Given the description of an element on the screen output the (x, y) to click on. 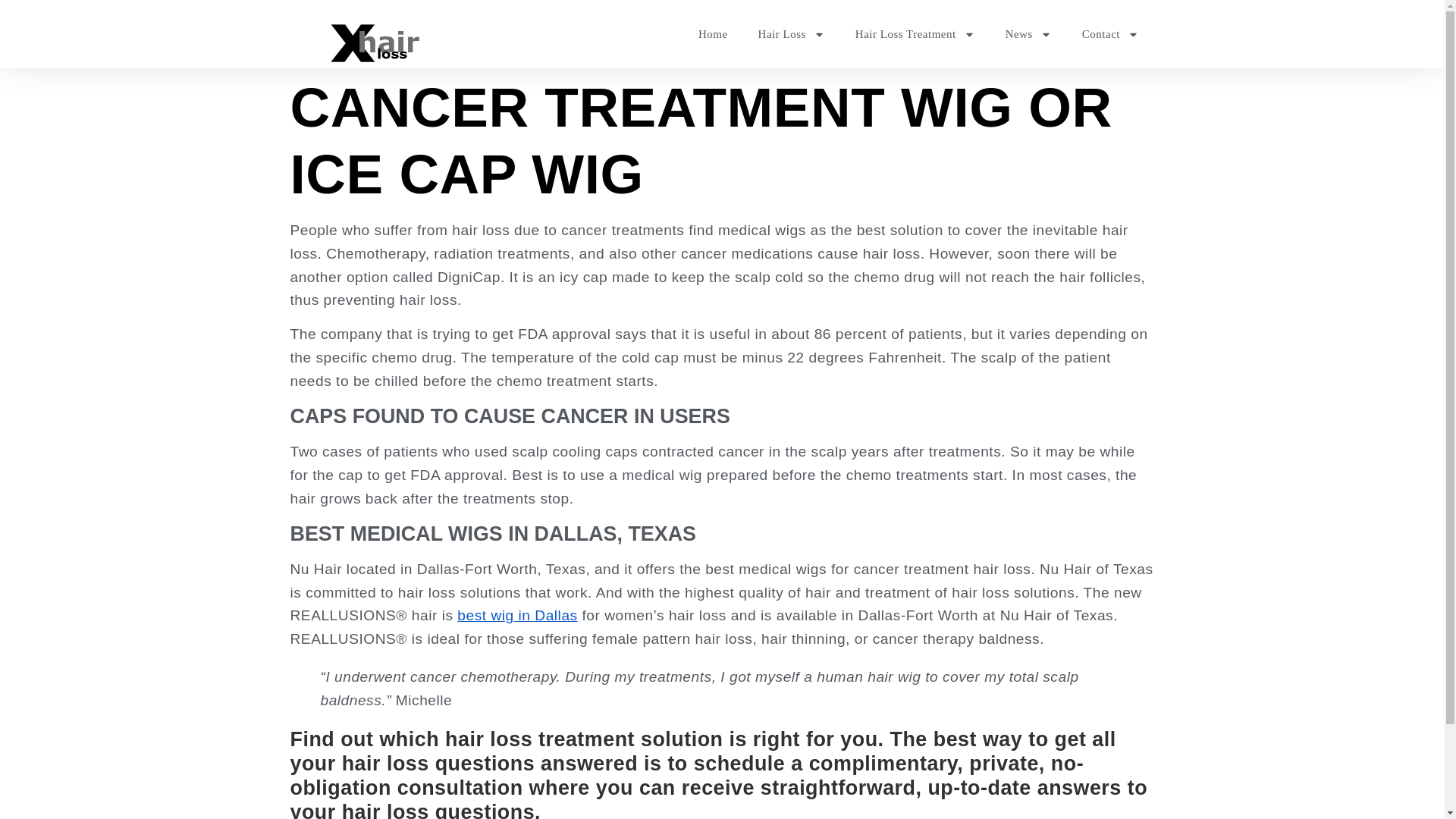
News (1028, 33)
Hair Loss Treatment (915, 33)
Hair Loss (791, 33)
Contact (1110, 33)
